Given the description of an element on the screen output the (x, y) to click on. 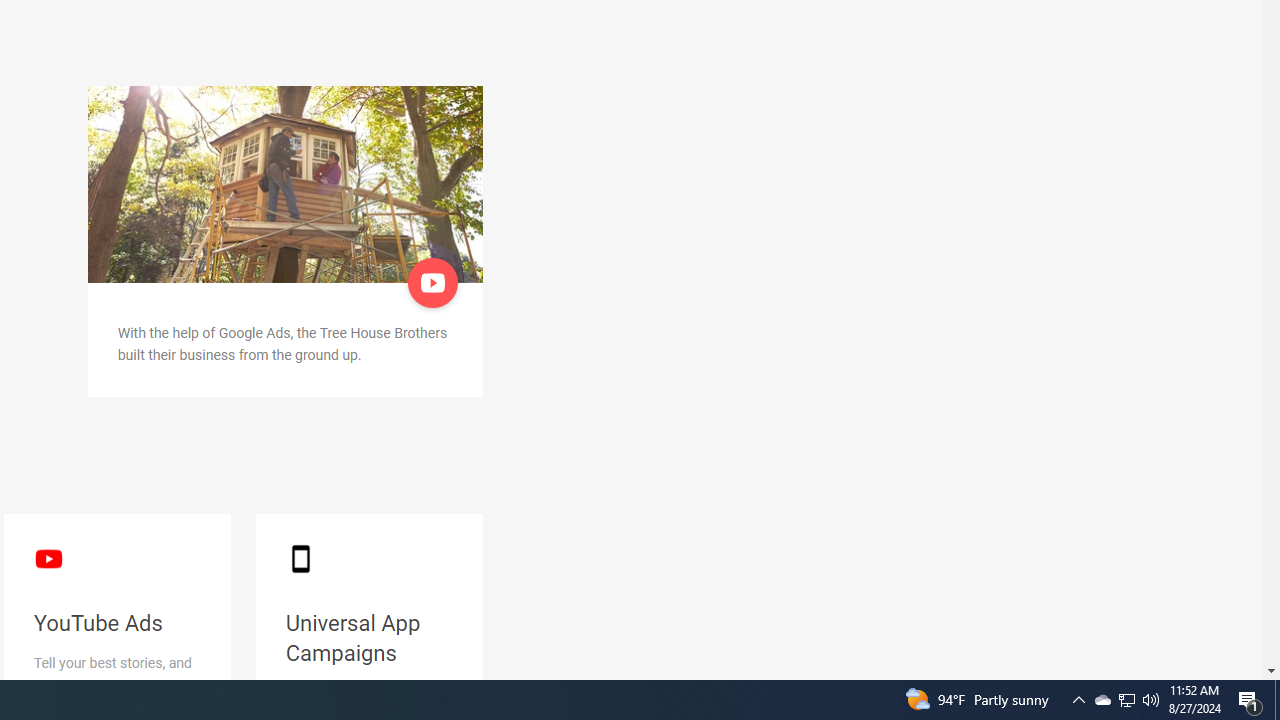
YouTube logo (48, 558)
smartphone black (300, 558)
Play video (433, 282)
Advertise card (285, 183)
